Given the description of an element on the screen output the (x, y) to click on. 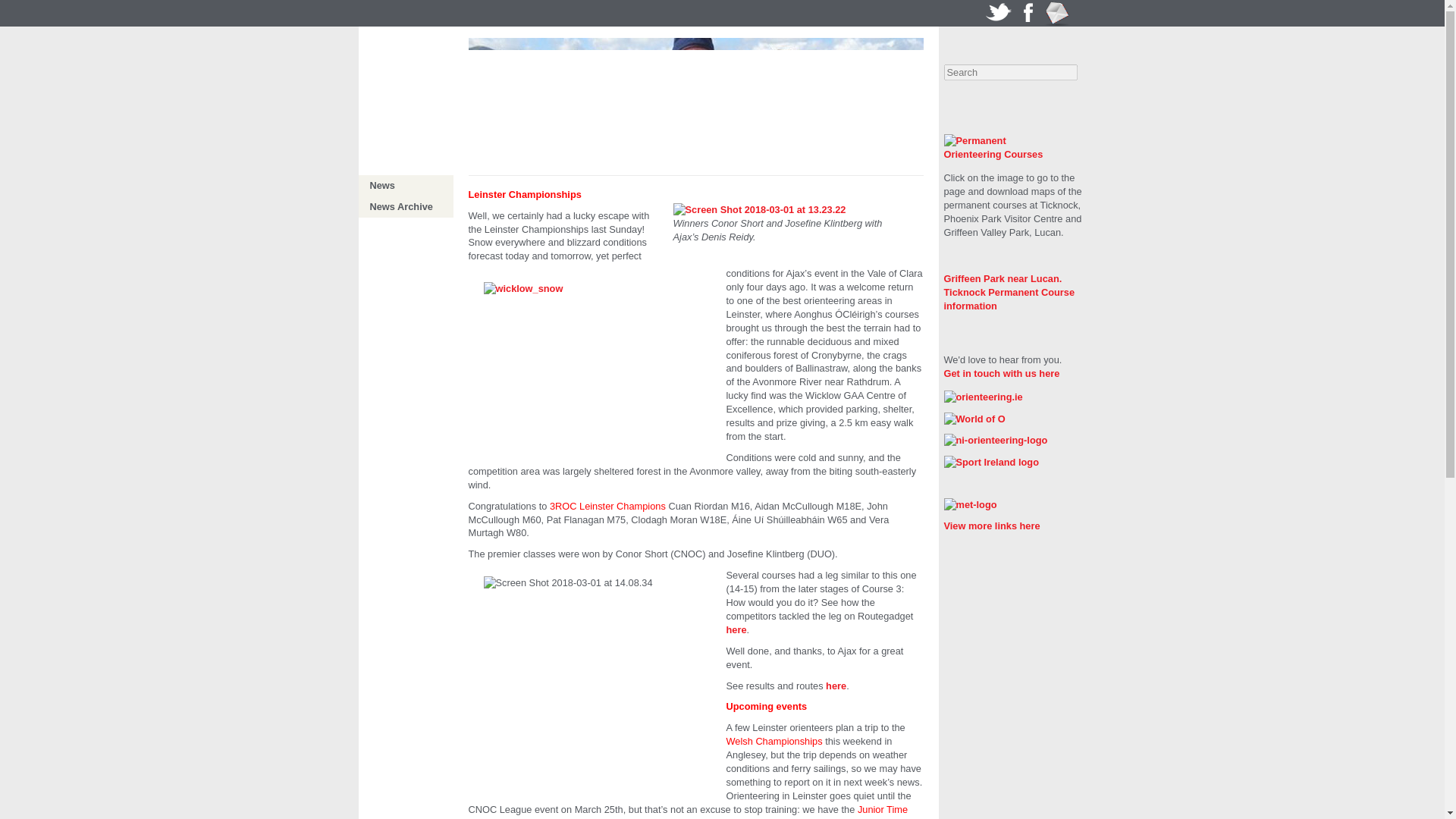
3Roc Orienteering Club (407, 79)
here (736, 629)
News Archive (400, 206)
News (381, 184)
Griffeen Park near Lucan. (1002, 278)
here (835, 685)
View more links here (991, 525)
3Roc Orienteering Club (407, 79)
Ticknock Permanent Course information (1008, 299)
Get in touch with us here (1001, 373)
